Given the description of an element on the screen output the (x, y) to click on. 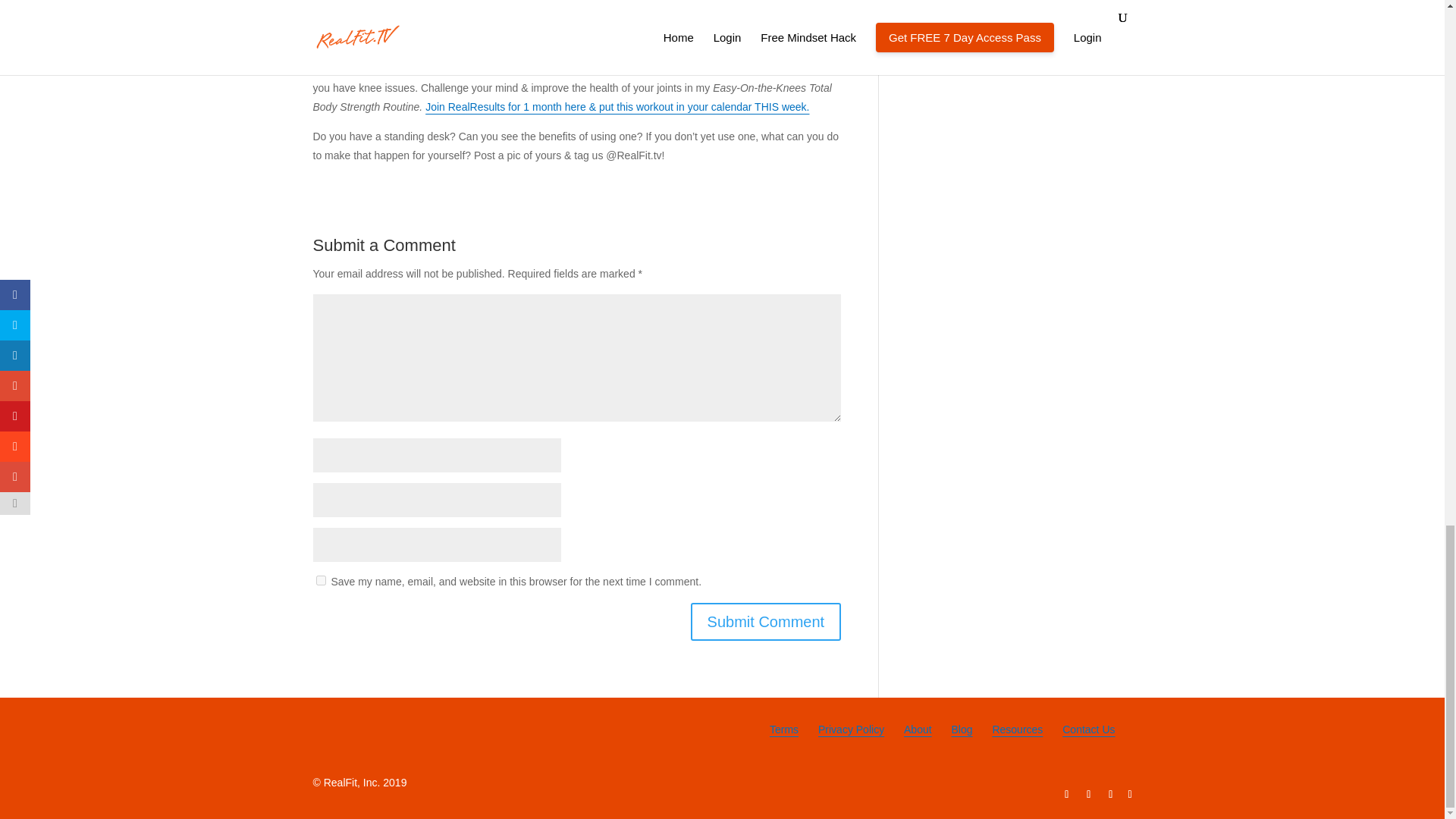
Submit Comment (765, 621)
yes (319, 580)
Submit Comment (765, 621)
